Given the description of an element on the screen output the (x, y) to click on. 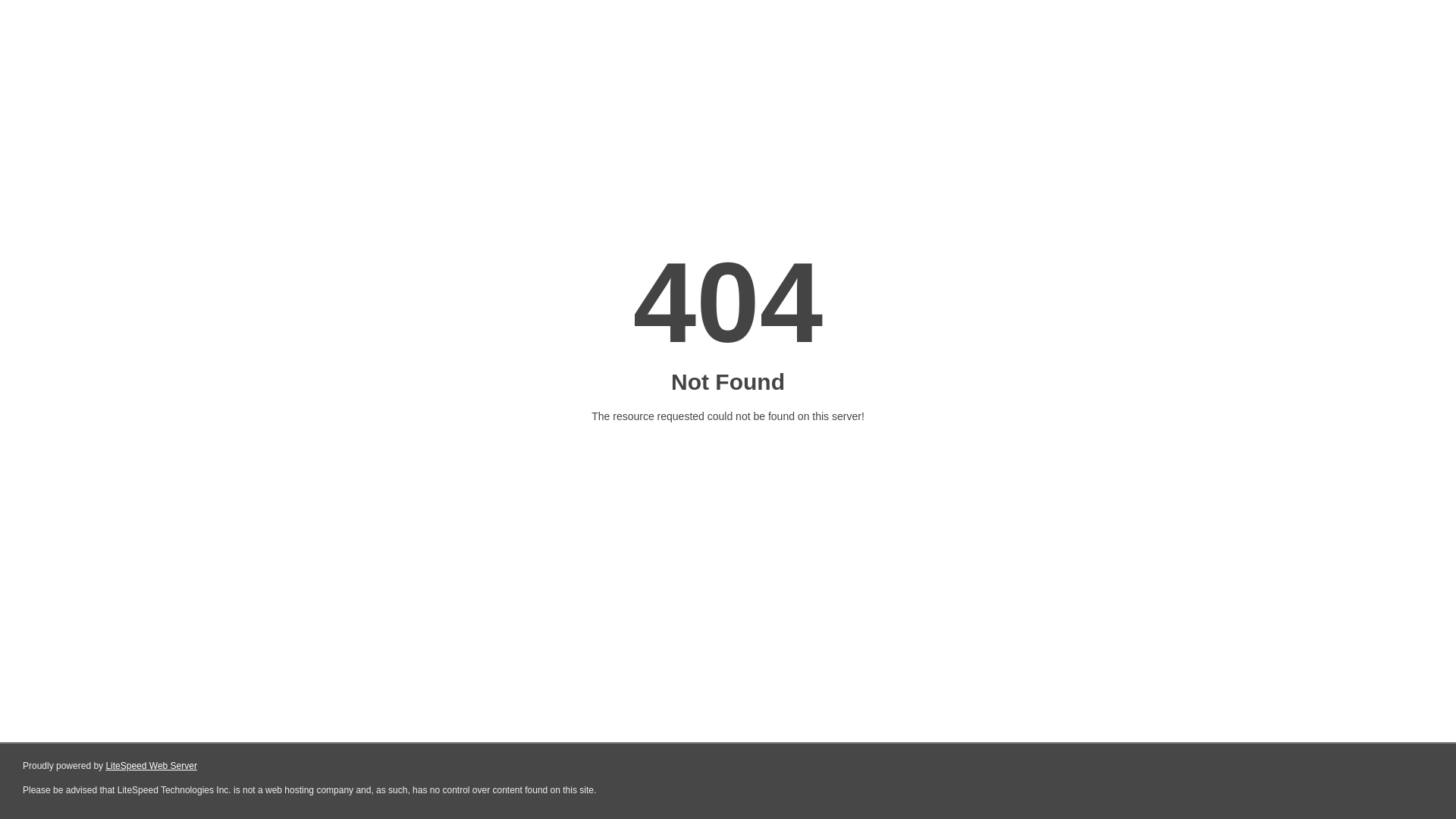
LiteSpeed Web Server Element type: text (151, 765)
